Given the description of an element on the screen output the (x, y) to click on. 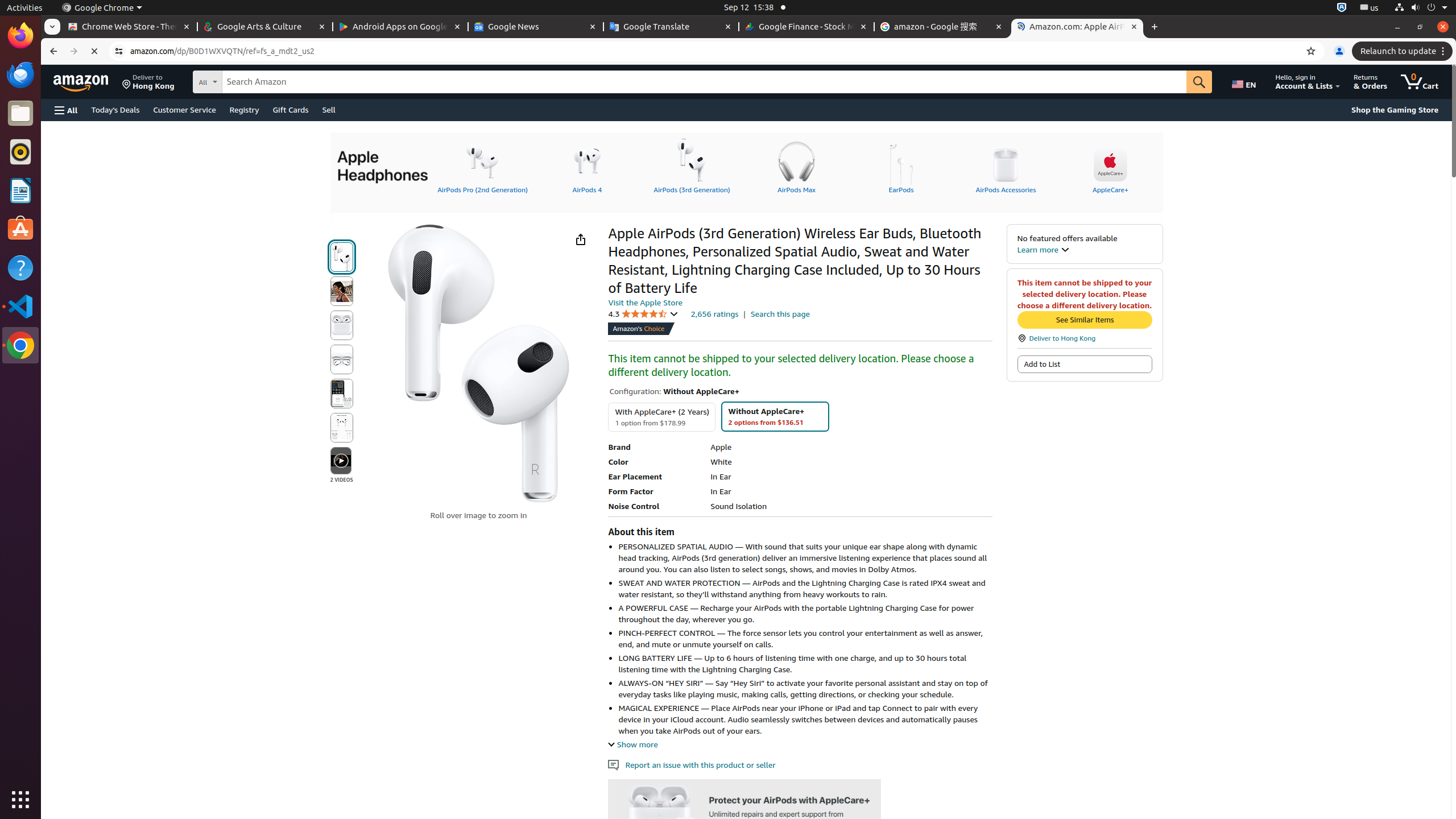
Thunderbird Mail Element type: push-button (20, 74)
Relaunch to update Element type: push-button (1403, 50)
Hello, sign in Account & Lists Element type: link (1307, 81)
AppleCare+ Element type: link (1110, 165)
With AppleCare+ (2 Years) 1 option from $178.99 Element type: push-button (661, 416)
